Given the description of an element on the screen output the (x, y) to click on. 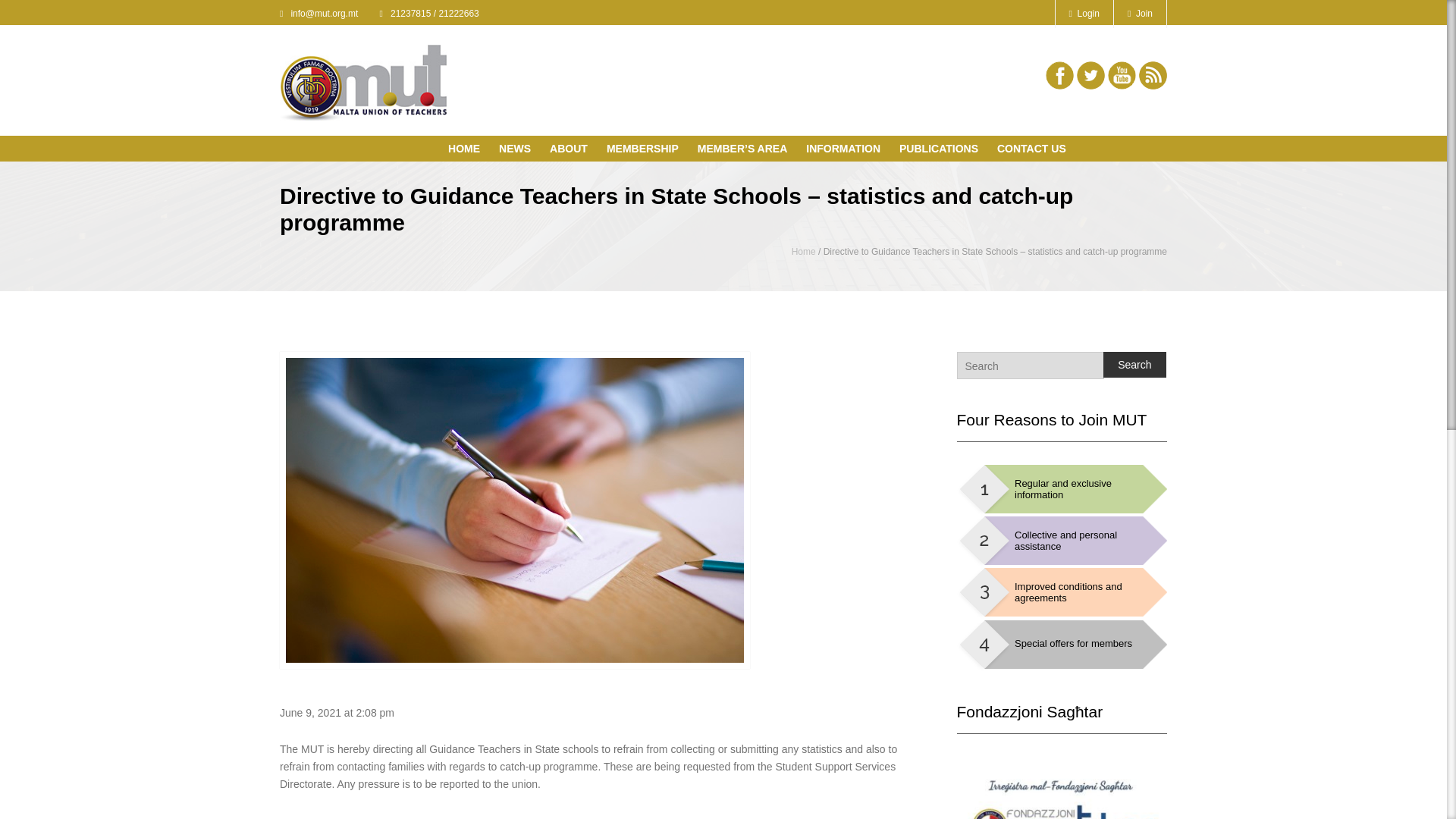
  Join (1140, 13)
NEWS (518, 150)
HOME (467, 150)
MEMBERSHIP (646, 150)
ABOUT (572, 150)
Search (1134, 364)
  Login (1083, 13)
